Given the description of an element on the screen output the (x, y) to click on. 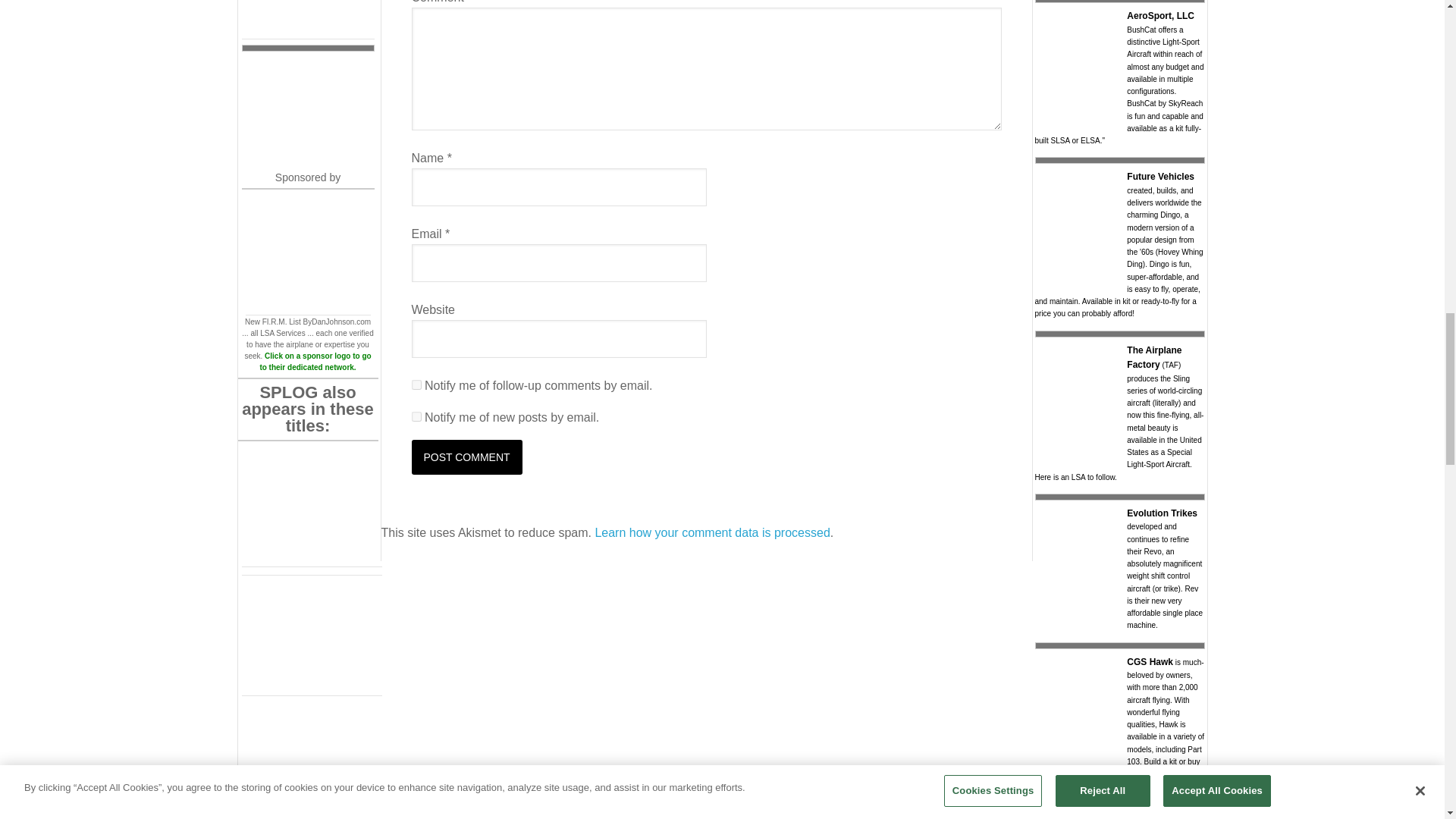
Post Comment (465, 457)
subscribe (415, 416)
Post Comment (465, 457)
subscribe (415, 384)
Learn how your comment data is processed (711, 532)
